Given the description of an element on the screen output the (x, y) to click on. 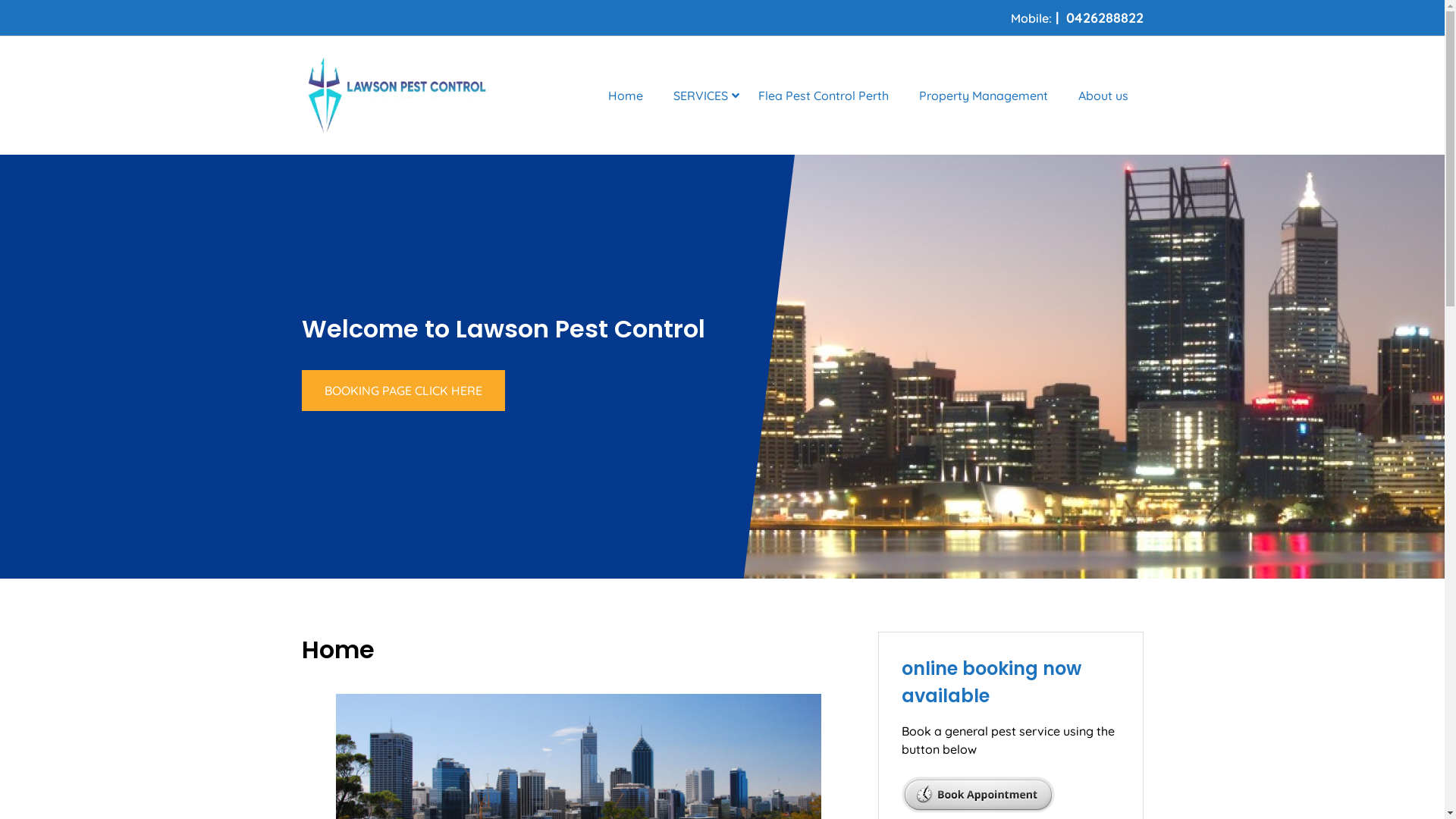
SERVICES Element type: text (700, 95)
BOOKING PAGE CLICK HERE Element type: text (403, 390)
Property Management Element type: text (983, 95)
Mobile: |  0426288822 Element type: text (1076, 17)
Home Element type: text (625, 95)
Flea Pest Control Perth Element type: text (823, 95)
About us Element type: text (1103, 95)
